Given the description of an element on the screen output the (x, y) to click on. 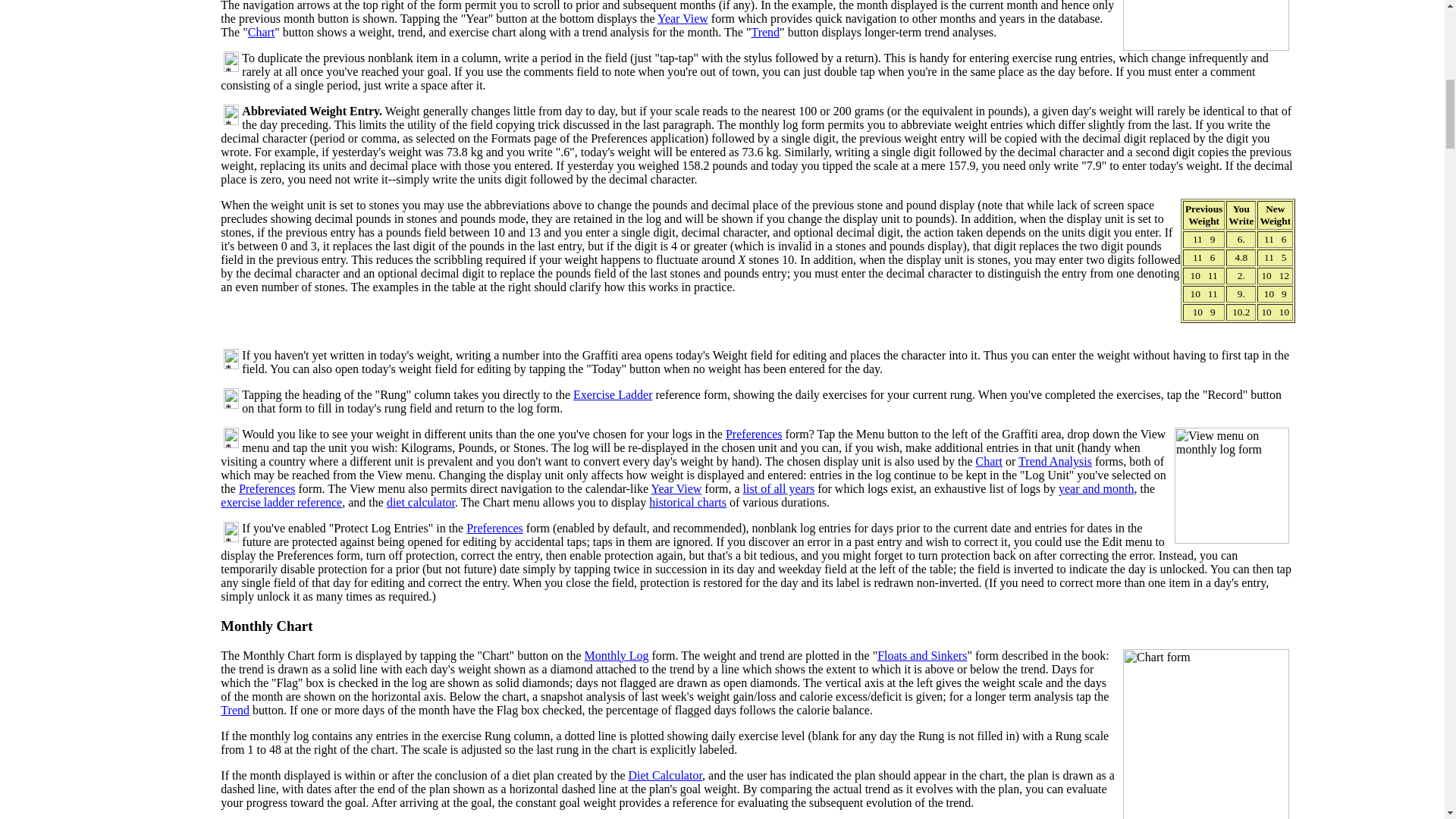
Trend (234, 709)
Trend (764, 31)
list of all years (778, 488)
diet calculator (420, 502)
Exercise Ladder (612, 394)
Chart (989, 461)
exercise ladder reference (281, 502)
Preferences (754, 433)
year and month (1096, 488)
Preferences (266, 488)
Floats and Sinkers (921, 655)
Year View (682, 18)
Trend Analysis (1054, 461)
Monthly Log (617, 655)
Year View (675, 488)
